Given the description of an element on the screen output the (x, y) to click on. 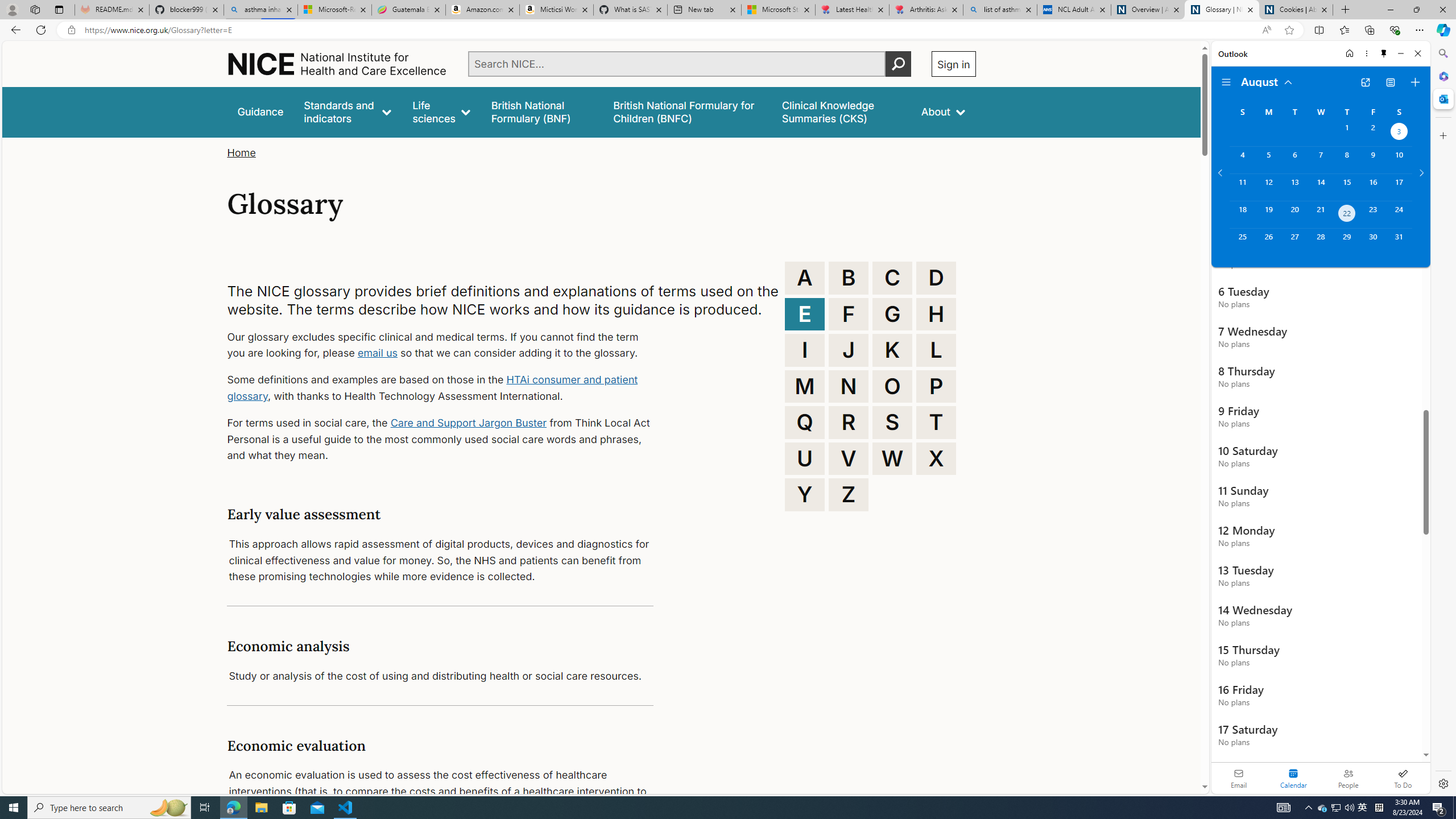
Add this page to favorites (Ctrl+D) (1289, 29)
Sunday, August 11, 2024.  (1242, 186)
Home (241, 152)
Saturday, August 3, 2024. Date selected.  (1399, 132)
Sunday, August 18, 2024.  (1242, 214)
HTAi consumer and patient glossary (432, 387)
M (804, 385)
J (848, 350)
Tuesday, August 27, 2024.  (1294, 241)
Sunday, August 4, 2024.  (1242, 159)
